Given the description of an element on the screen output the (x, y) to click on. 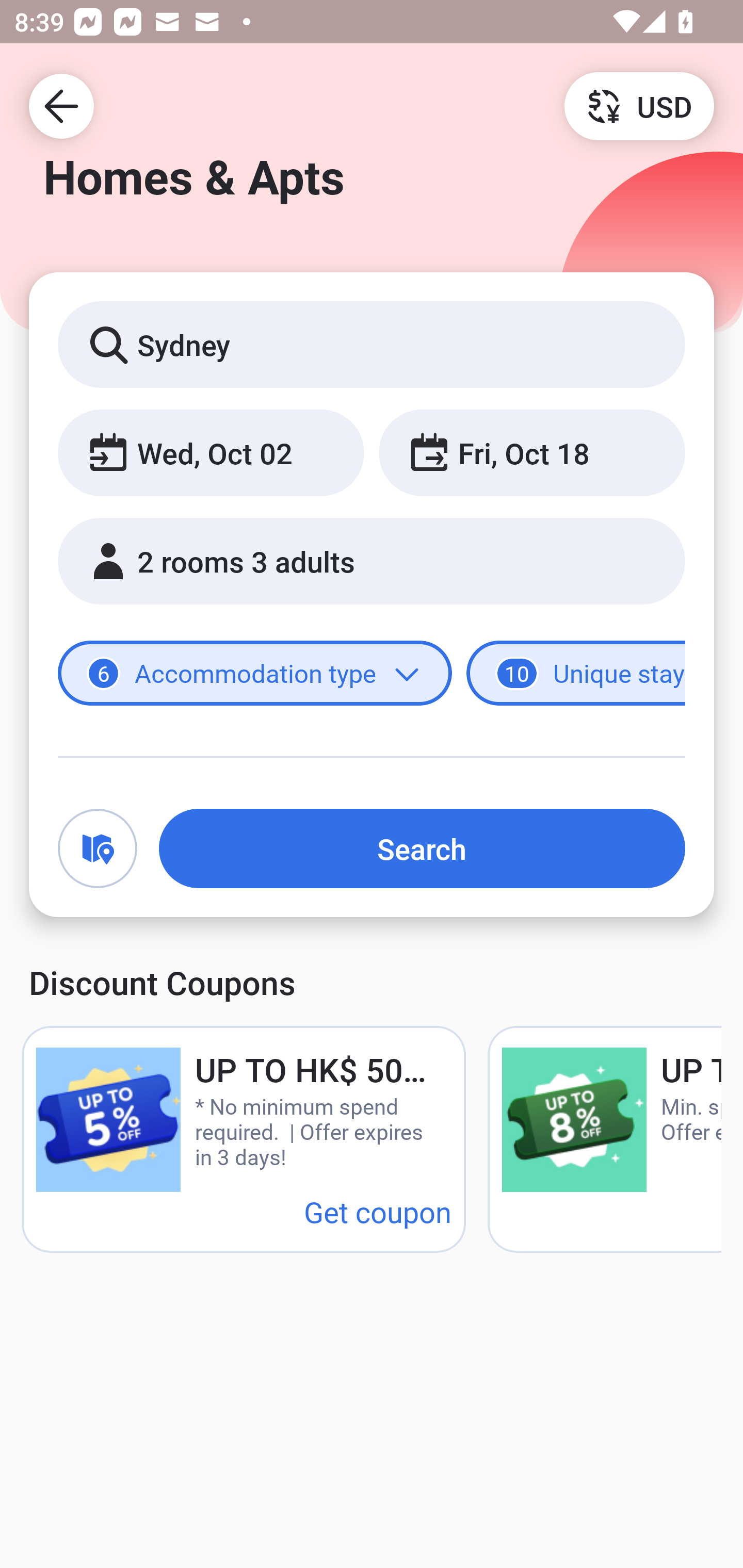
USD (639, 105)
Sydney (371, 344)
Wed, Oct 02 (210, 452)
Fri, Oct 18 (531, 452)
2 rooms 3 adults (371, 561)
6 Accommodation type (254, 673)
10 Unique stays (575, 673)
Search (422, 848)
Get coupon (377, 1211)
